Given the description of an element on the screen output the (x, y) to click on. 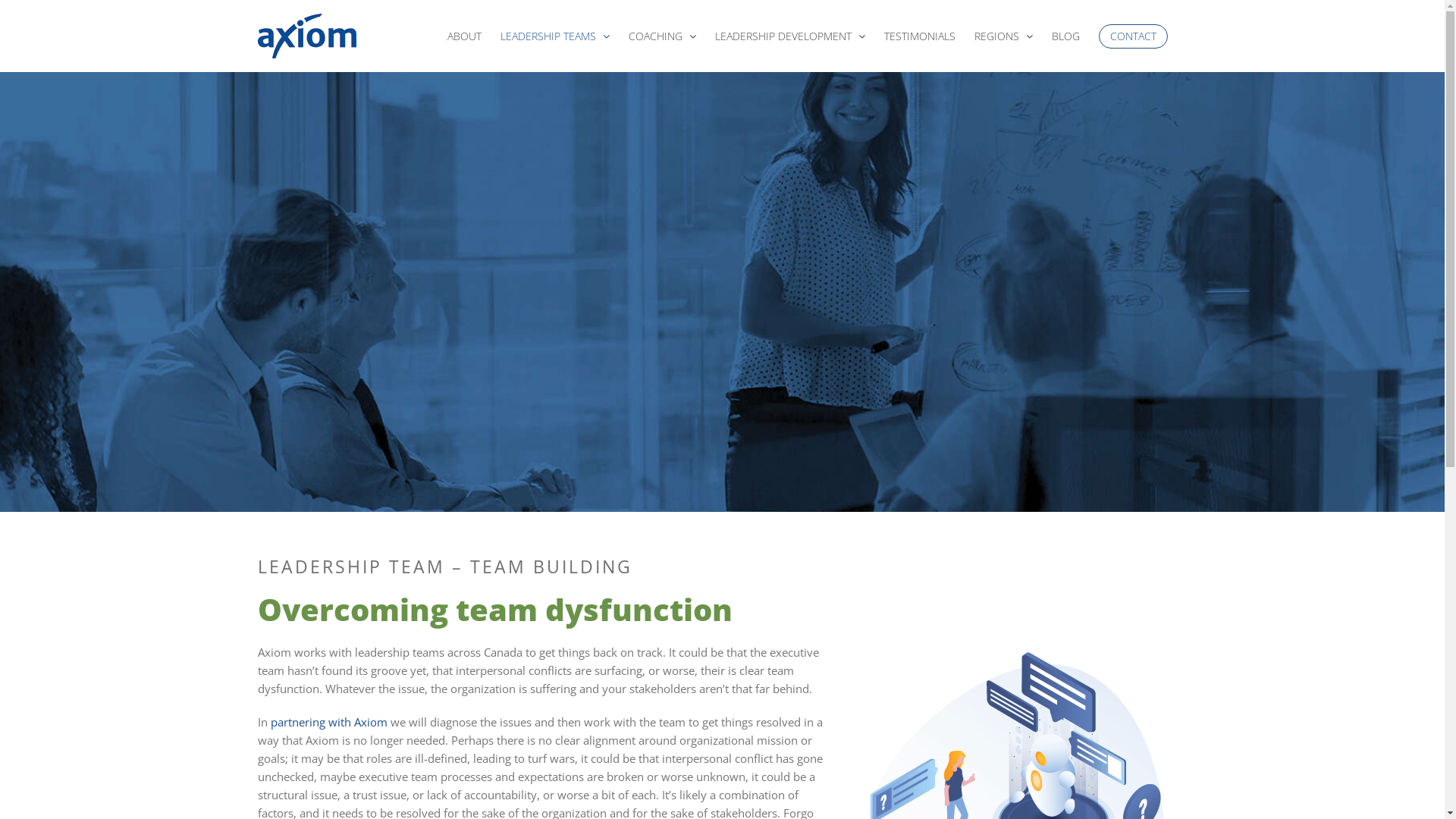
LEADERSHIP TEAMS Element type: text (554, 36)
COACHING Element type: text (662, 36)
TESTIMONIALS Element type: text (919, 36)
REGIONS Element type: text (1003, 36)
LEADERSHIP DEVELOPMENT Element type: text (790, 36)
BLOG Element type: text (1065, 36)
CONTACT Element type: text (1132, 36)
partnering with Axiom Element type: text (330, 721)
ABOUT Element type: text (464, 36)
